Given the description of an element on the screen output the (x, y) to click on. 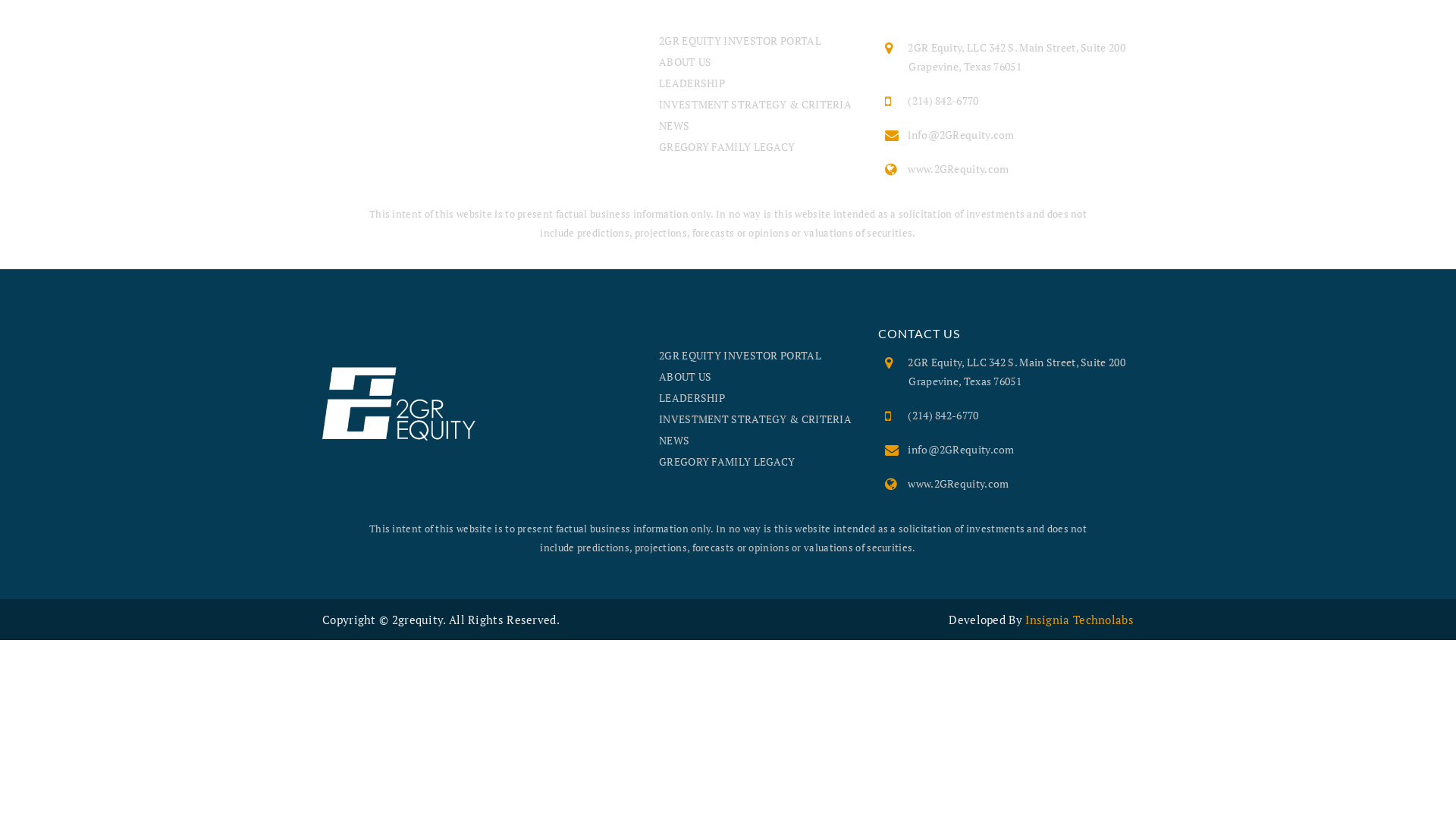
INVESTMENT STRATEGY & CRITERIA Element type: text (754, 104)
ABOUT US Element type: text (684, 61)
INVESTMENT STRATEGY & CRITERIA Element type: text (754, 418)
INVESTORS Element type: text (1356, 30)
www.2GRequity.com Element type: text (957, 483)
info@2GRequity.com Element type: text (960, 134)
LEADERSHIP Element type: text (691, 82)
2GR EQUITY INVESTOR PORTAL Element type: text (739, 40)
NEWS Element type: text (673, 125)
NEWS Element type: text (673, 440)
info@2GRequity.com Element type: text (960, 449)
ABOUT US Element type: text (684, 376)
2GR EQUITY INVESTOR PORTAL Element type: text (739, 355)
Insignia Technolabs Element type: text (1079, 619)
(214) 842-6770 Element type: text (942, 414)
(214) 842-6770 Element type: text (942, 100)
www.2GRequity.com Element type: text (957, 168)
GREGORY FAMILY LEGACY Element type: text (726, 461)
GREGORY FAMILY LEGACY Element type: text (726, 146)
LEADERSHIP Element type: text (691, 397)
